Given the description of an element on the screen output the (x, y) to click on. 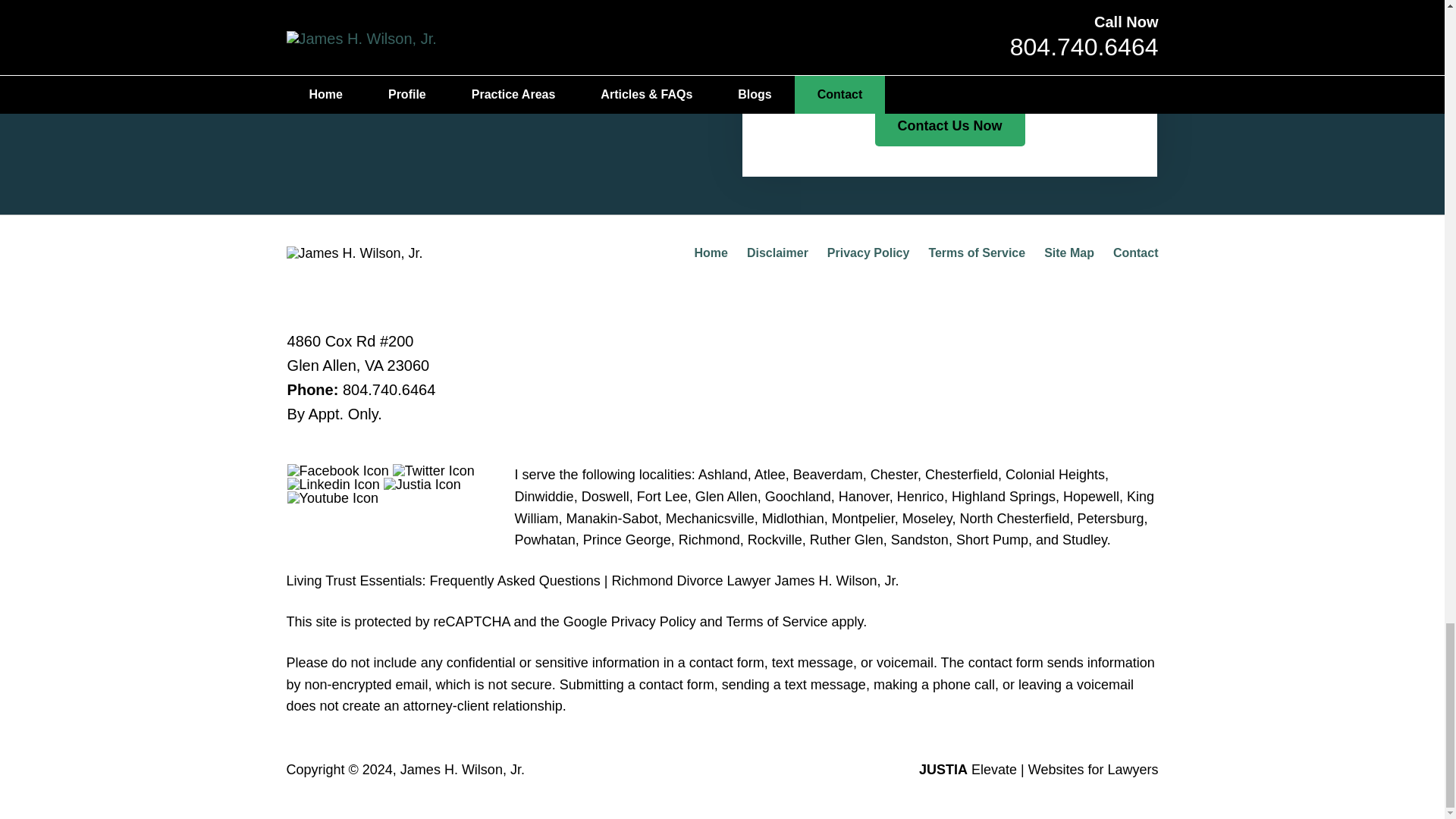
Terms of Service (976, 252)
Contact Us Now (950, 126)
Justia (422, 484)
Linkedin (333, 484)
Youtube (332, 498)
Home (710, 252)
804.740.6464 (388, 389)
Twitter (433, 470)
Facebook (337, 470)
Privacy Policy (868, 252)
Disclaimer (777, 252)
